Given the description of an element on the screen output the (x, y) to click on. 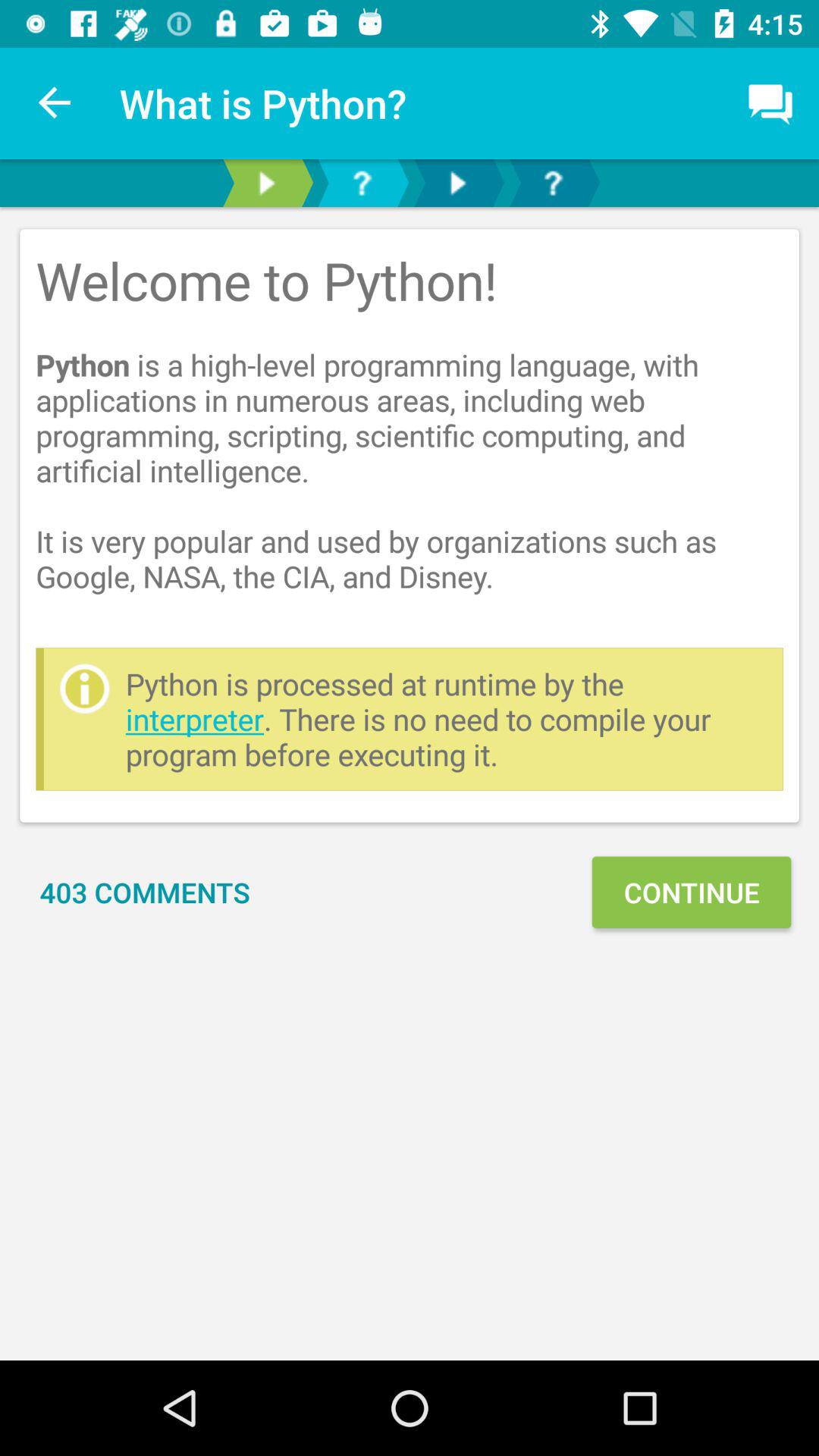
show information (265, 183)
